Given the description of an element on the screen output the (x, y) to click on. 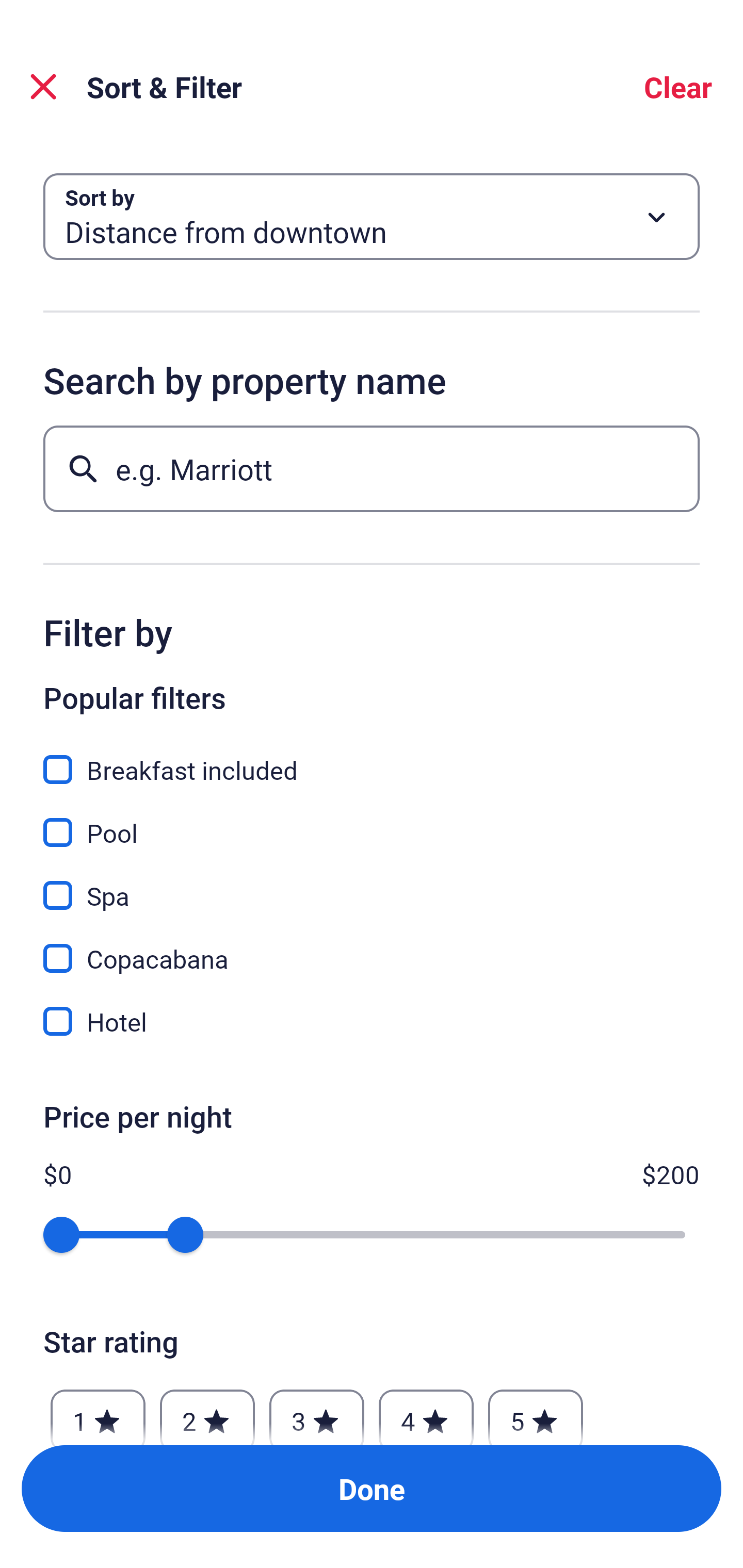
Close Sort and Filter (43, 86)
Clear (677, 86)
Sort by Button Distance from downtown (371, 217)
e.g. Marriott Button (371, 468)
Breakfast included, Breakfast included (371, 757)
Pool, Pool (371, 821)
Spa, Spa (371, 883)
Copacabana, Copacabana (371, 946)
Hotel, Hotel (371, 1021)
1 (97, 1411)
2 (206, 1411)
3 (316, 1411)
4 (426, 1411)
5 (535, 1411)
Apply and close Sort and Filter Done (371, 1488)
